Given the description of an element on the screen output the (x, y) to click on. 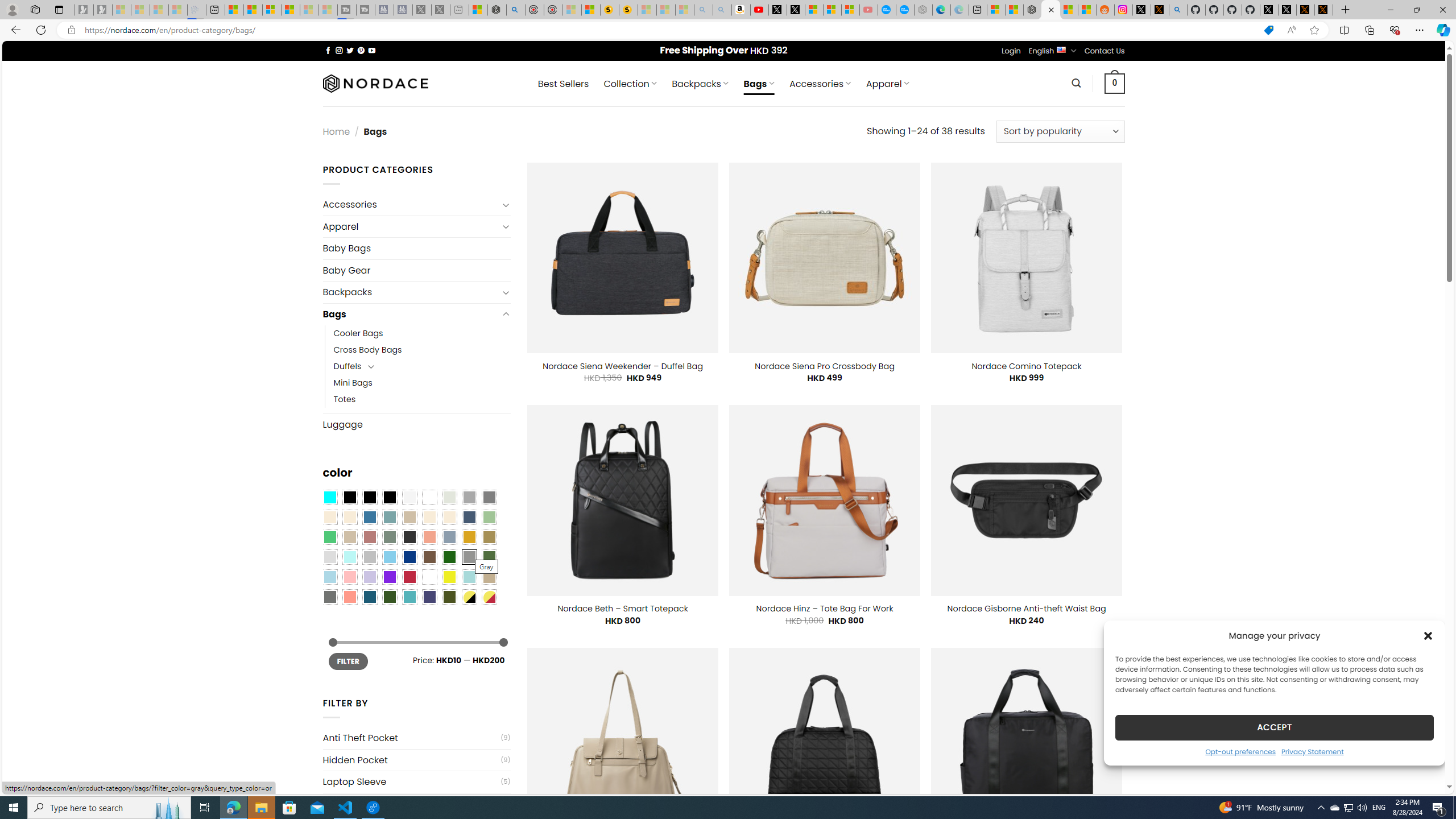
Clear (429, 497)
Dark Green (449, 557)
Follow on Pinterest (360, 49)
GitHub (@github) / X (1287, 9)
Accessories (410, 204)
Capri Blue (369, 596)
Laptop Sleeve(5) (416, 781)
  0   (1115, 83)
